Given the description of an element on the screen output the (x, y) to click on. 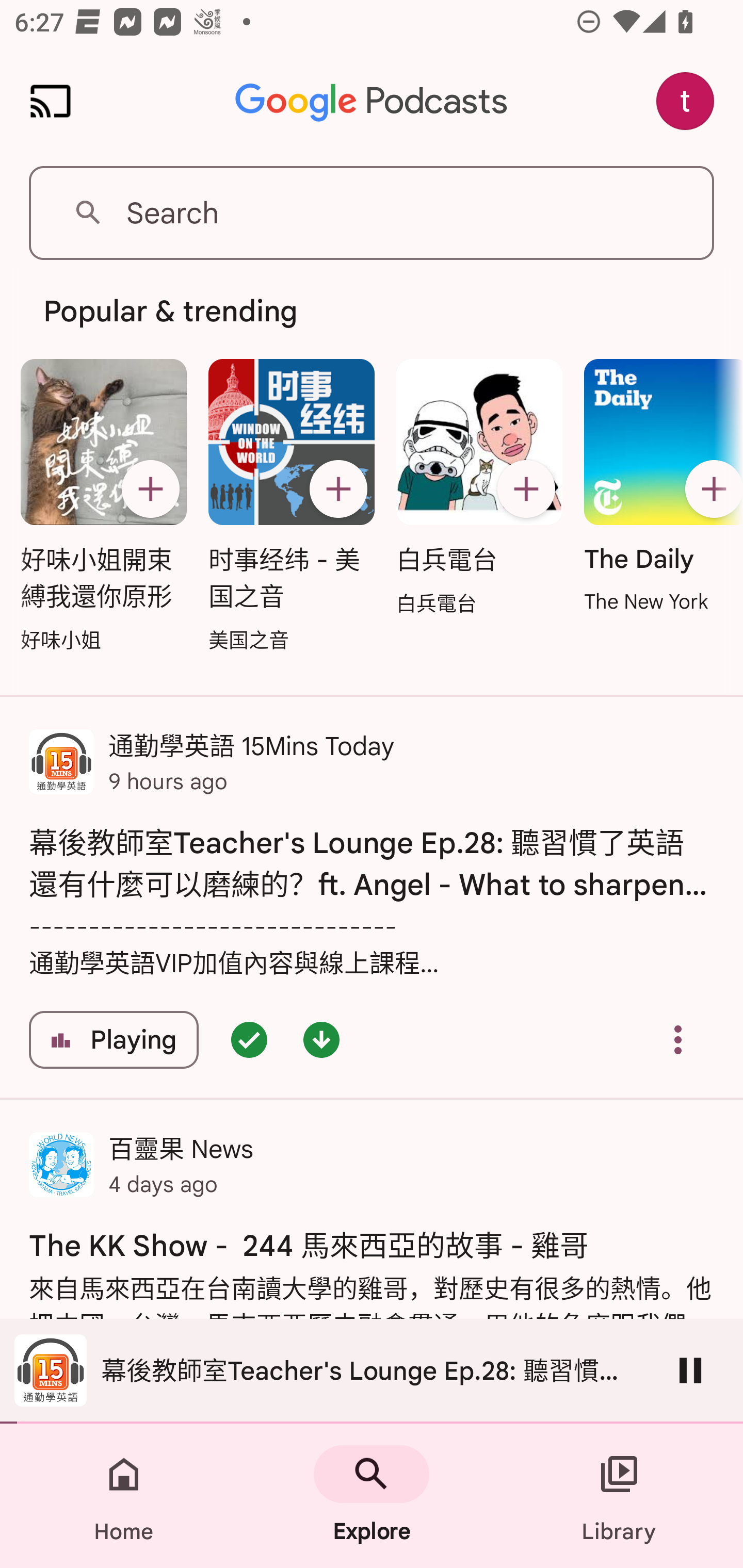
Cast. Disconnected (50, 101)
Search (371, 212)
好味小姐開束縛我還你原形 Subscribe 好味小姐開束縛我還你原形 好味小姐 (103, 507)
时事经纬 - 美国之音 Subscribe 时事经纬 - 美国之音 美国之音 (291, 507)
白兵電台 Subscribe 白兵電台 白兵電台 (479, 488)
The Daily Subscribe The Daily The New York Times (658, 487)
Subscribe (150, 489)
Subscribe (338, 489)
Subscribe (526, 489)
Subscribe (710, 489)
Episode queued - double tap for options (249, 1040)
Episode downloaded - double tap for options (321, 1040)
Overflow menu (677, 1040)
Pause (690, 1370)
Home (123, 1495)
Library (619, 1495)
